Given the description of an element on the screen output the (x, y) to click on. 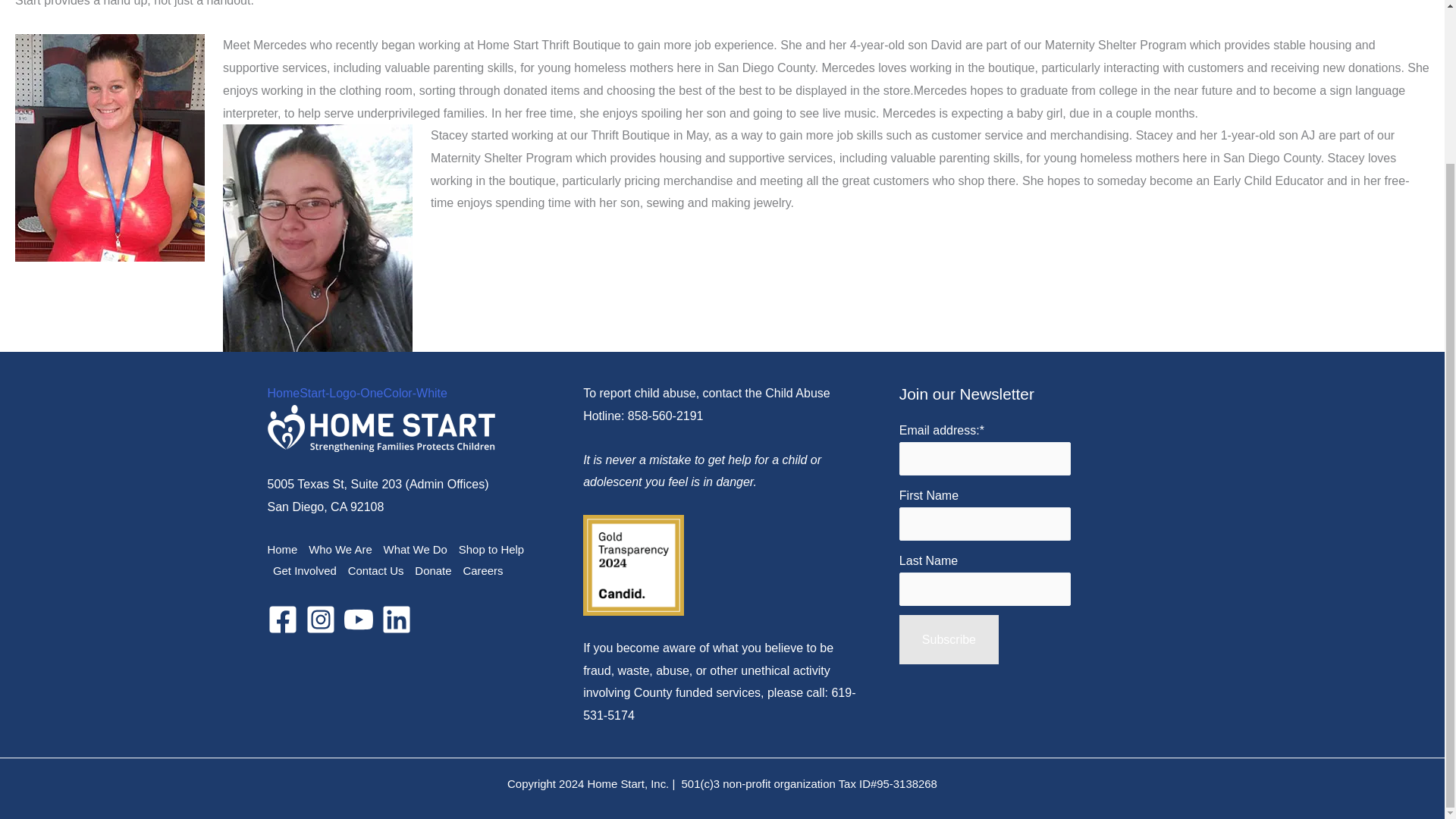
Subscribe (948, 640)
